Given the description of an element on the screen output the (x, y) to click on. 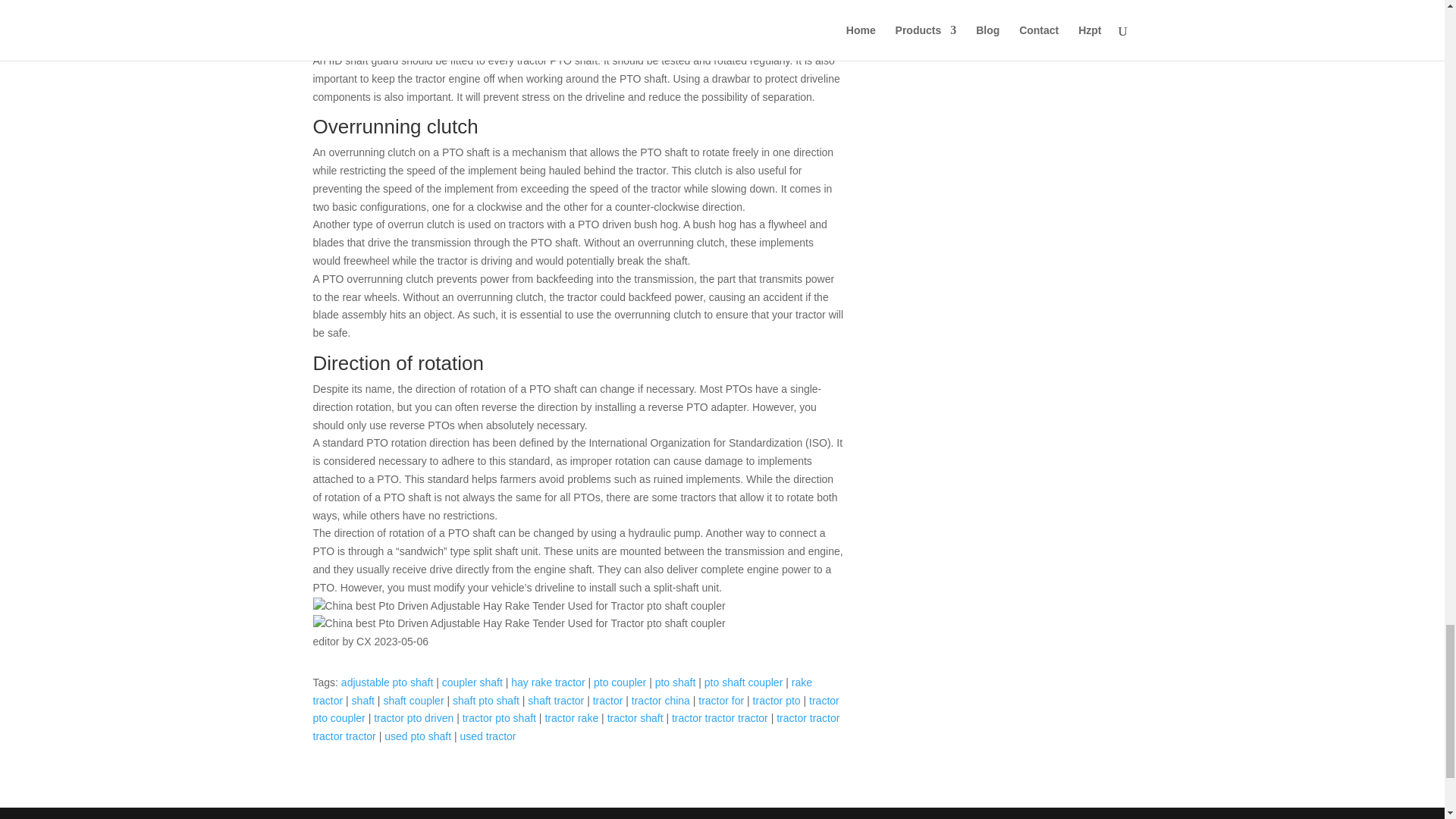
hay rake tractor (548, 682)
tractor for (721, 700)
pto shaft (675, 682)
tractor (607, 700)
tractor china (660, 700)
shaft pto shaft (485, 700)
adjustable pto shaft (386, 682)
shaft (363, 700)
shaft coupler (413, 700)
shaft tractor (555, 700)
tractor pto (776, 700)
coupler shaft (472, 682)
pto shaft coupler (743, 682)
tractor pto coupler (575, 709)
pto coupler (620, 682)
